Given the description of an element on the screen output the (x, y) to click on. 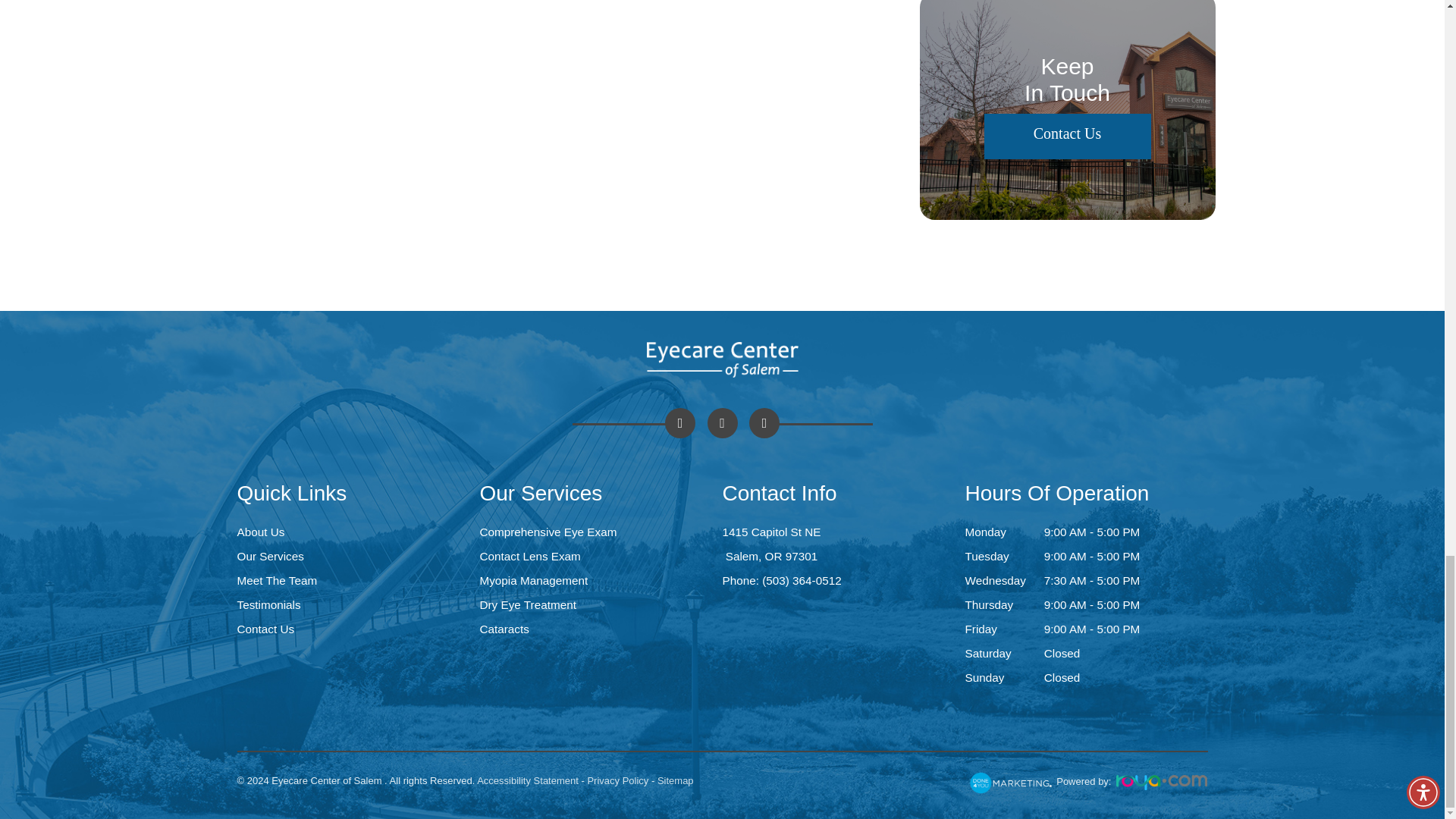
Roya (1161, 782)
Roya (1011, 782)
